Given the description of an element on the screen output the (x, y) to click on. 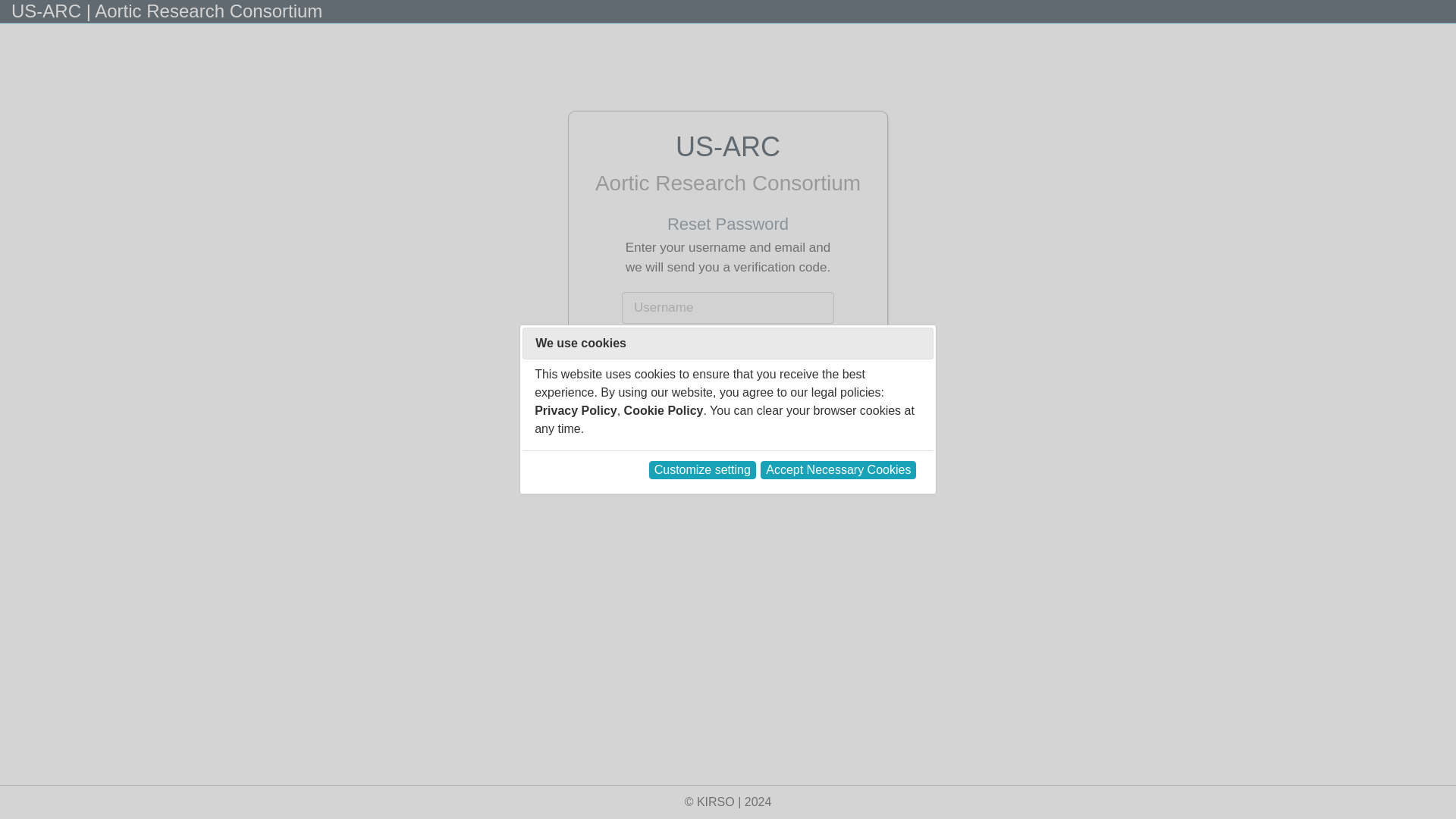
Submit (727, 395)
Privacy Policy (575, 410)
Customize setting (702, 470)
Cookie Policy (663, 410)
Accept Necessary Cookies (837, 470)
